Given the description of an element on the screen output the (x, y) to click on. 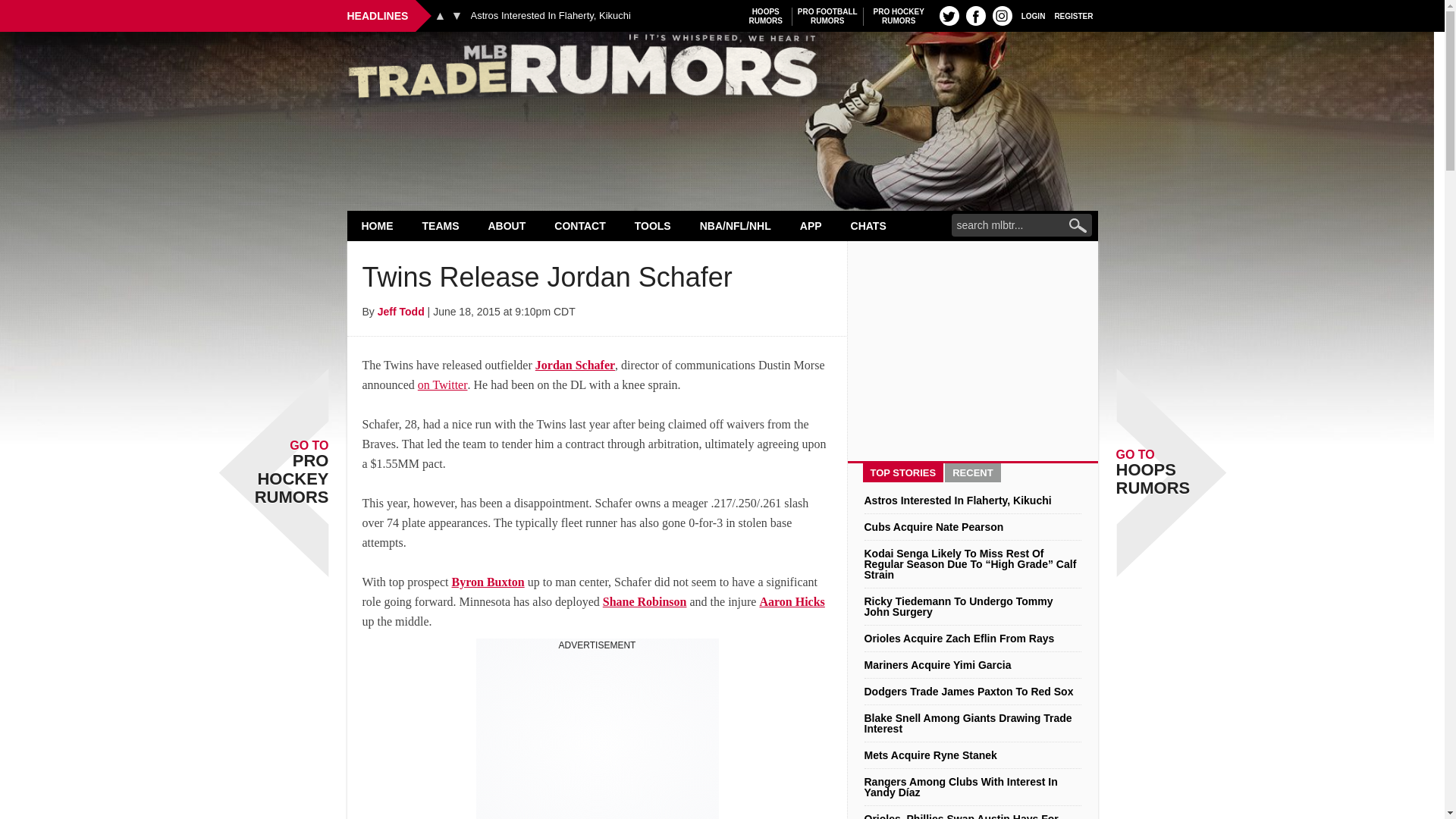
Instagram profile (1001, 15)
TEAMS (440, 225)
Twitter profile (949, 15)
3rd party ad content (597, 735)
Next (898, 16)
LOGIN (456, 15)
HOME (1032, 15)
Astros Interested In Flaherty, Kikuchi (377, 225)
REGISTER (550, 15)
Search (1073, 15)
MLB Trade Rumors (439, 15)
FB profile (722, 69)
